Given the description of an element on the screen output the (x, y) to click on. 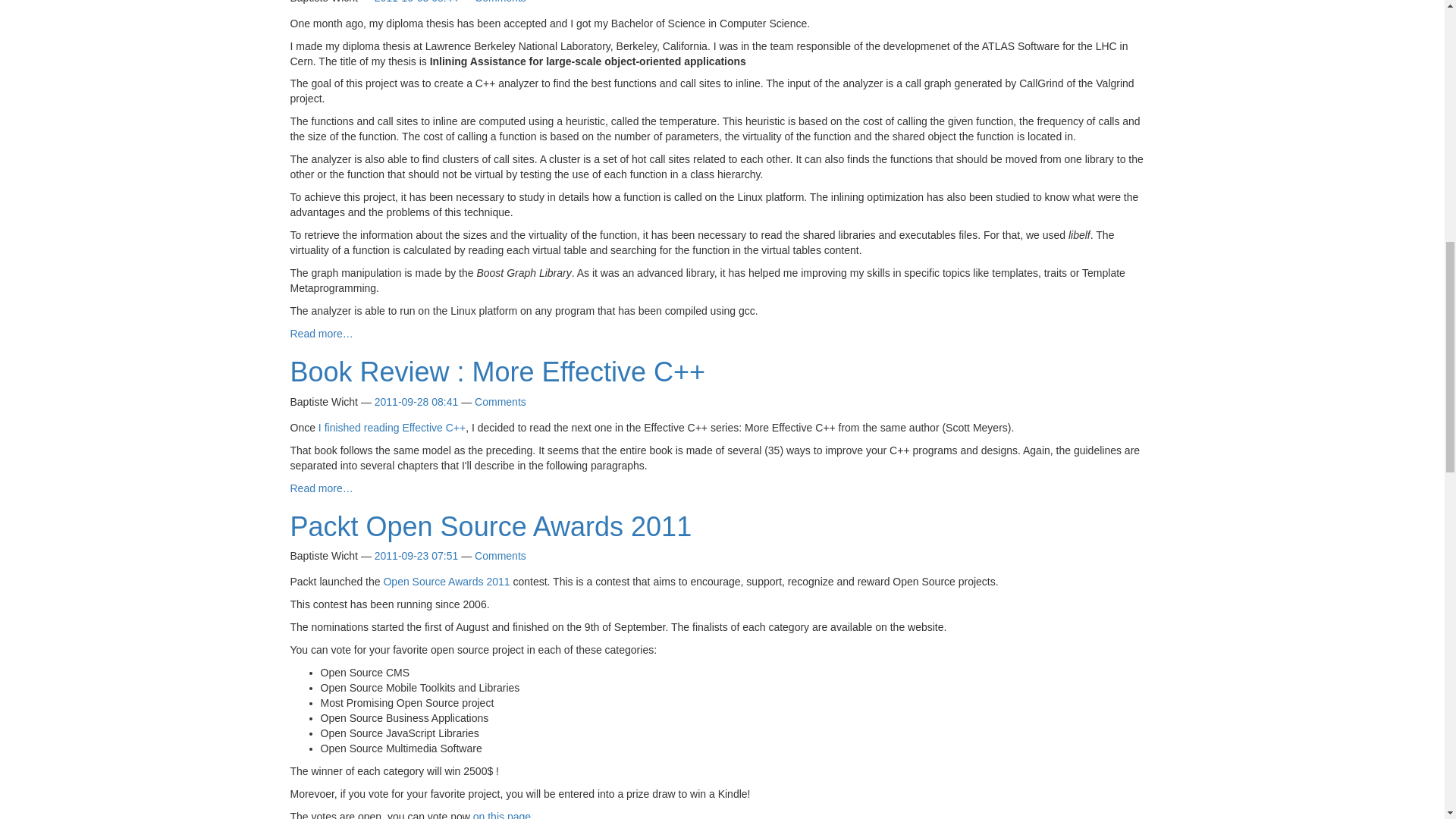
2011-09-28 08:41 (416, 401)
Packt Open Source Awards 2011 (490, 526)
2011-09-23 07:51 (416, 555)
Comments (499, 401)
Comments (499, 555)
2011-09-23 07:51 (416, 555)
Packt Open Source Awards 2011 (445, 581)
Comments (499, 2)
Vote for your project (502, 814)
on this page (502, 814)
2011-10-03 08:44 (416, 2)
2011-10-03 08:44 (416, 2)
2011-09-28 08:41 (416, 401)
Open Source Awards 2011 (445, 581)
